Given the description of an element on the screen output the (x, y) to click on. 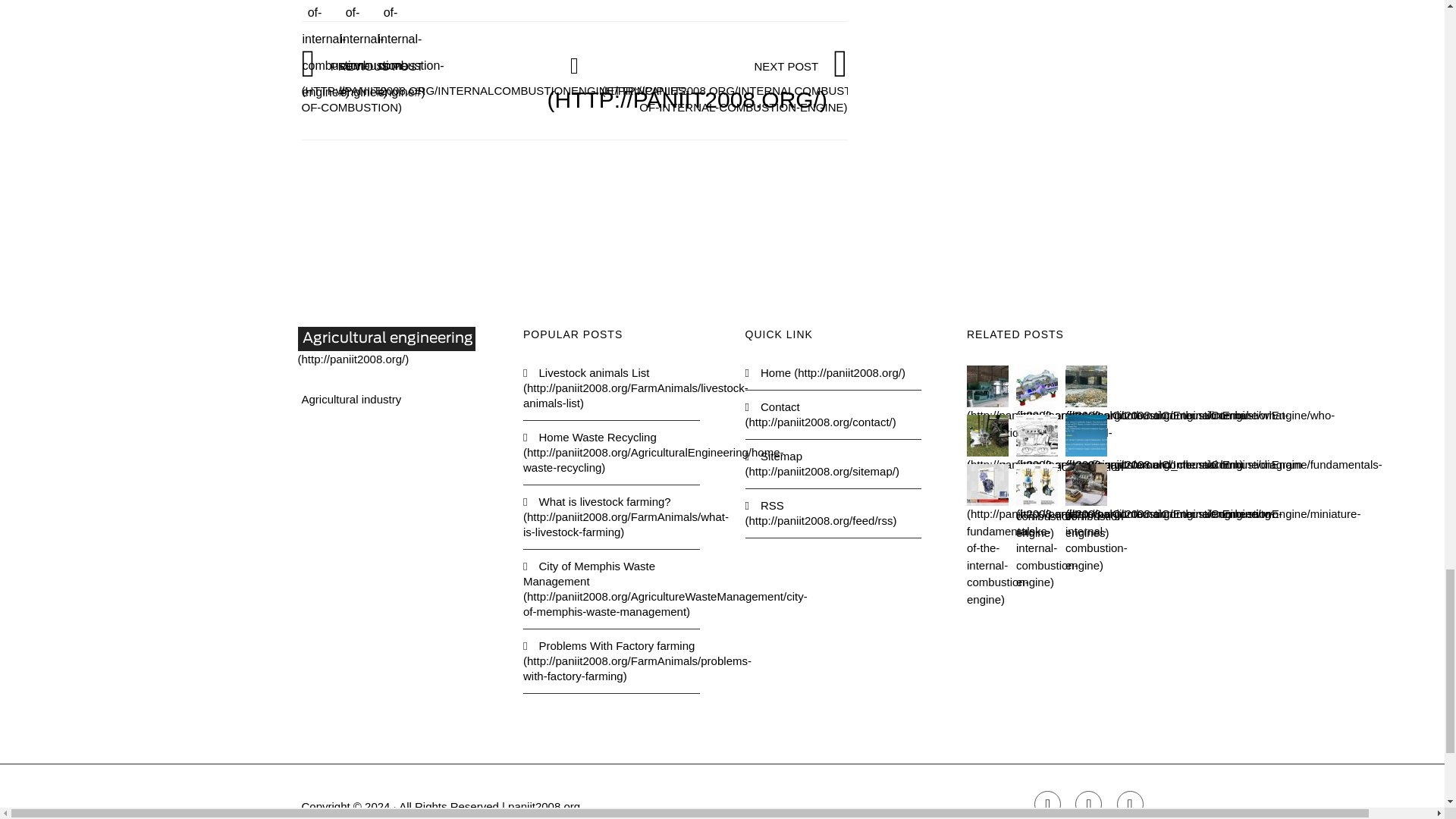
NEXT POST (794, 86)
PREVIOUS POST (494, 86)
